Given the description of an element on the screen output the (x, y) to click on. 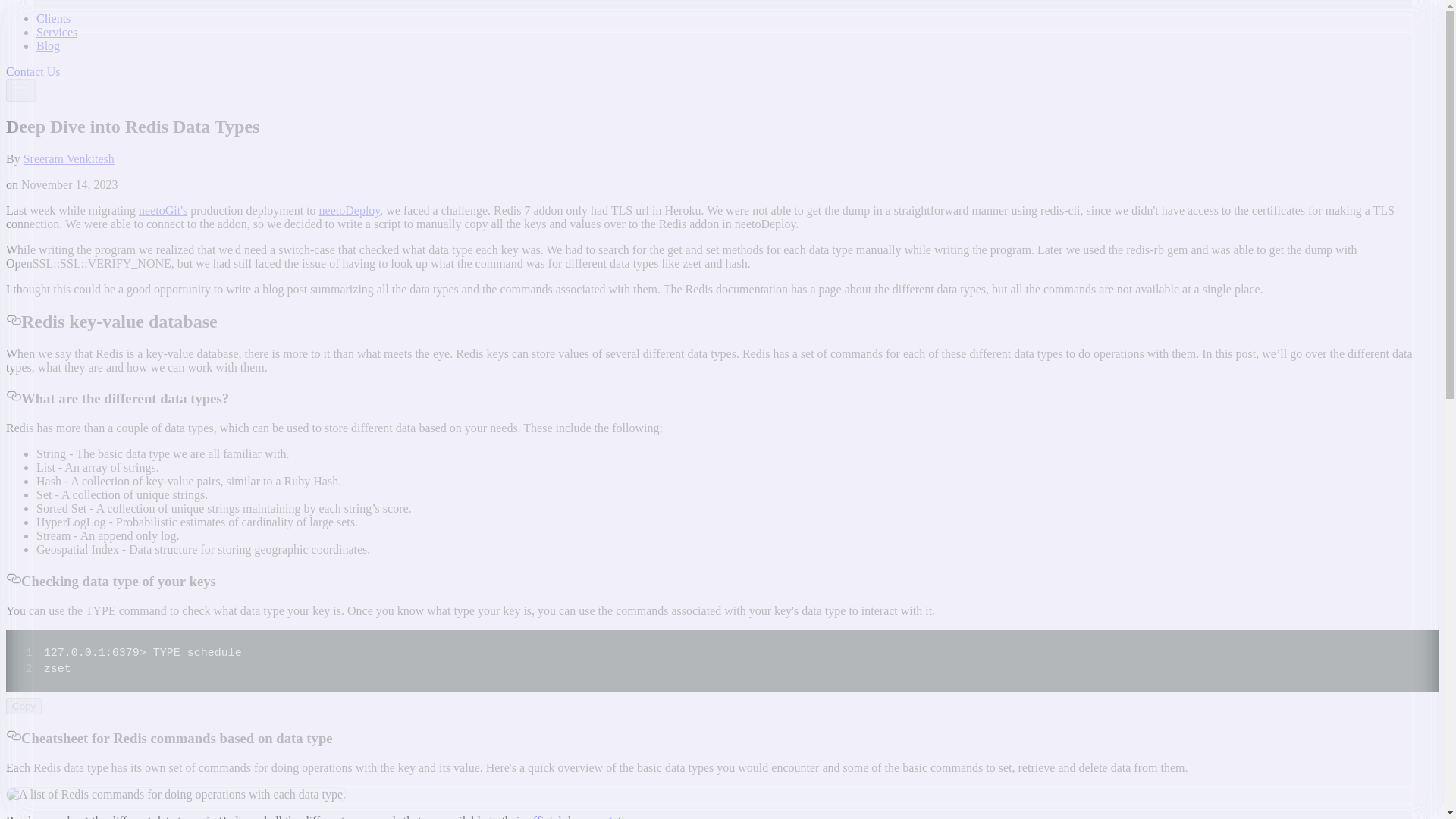
Sreeram Venkitesh (69, 158)
Services (56, 31)
neetoDeploy (349, 210)
Clients (52, 18)
Copy (23, 705)
official documentation (582, 816)
Blog (47, 45)
Contact Us (33, 71)
neetoGit's (162, 210)
